Given the description of an element on the screen output the (x, y) to click on. 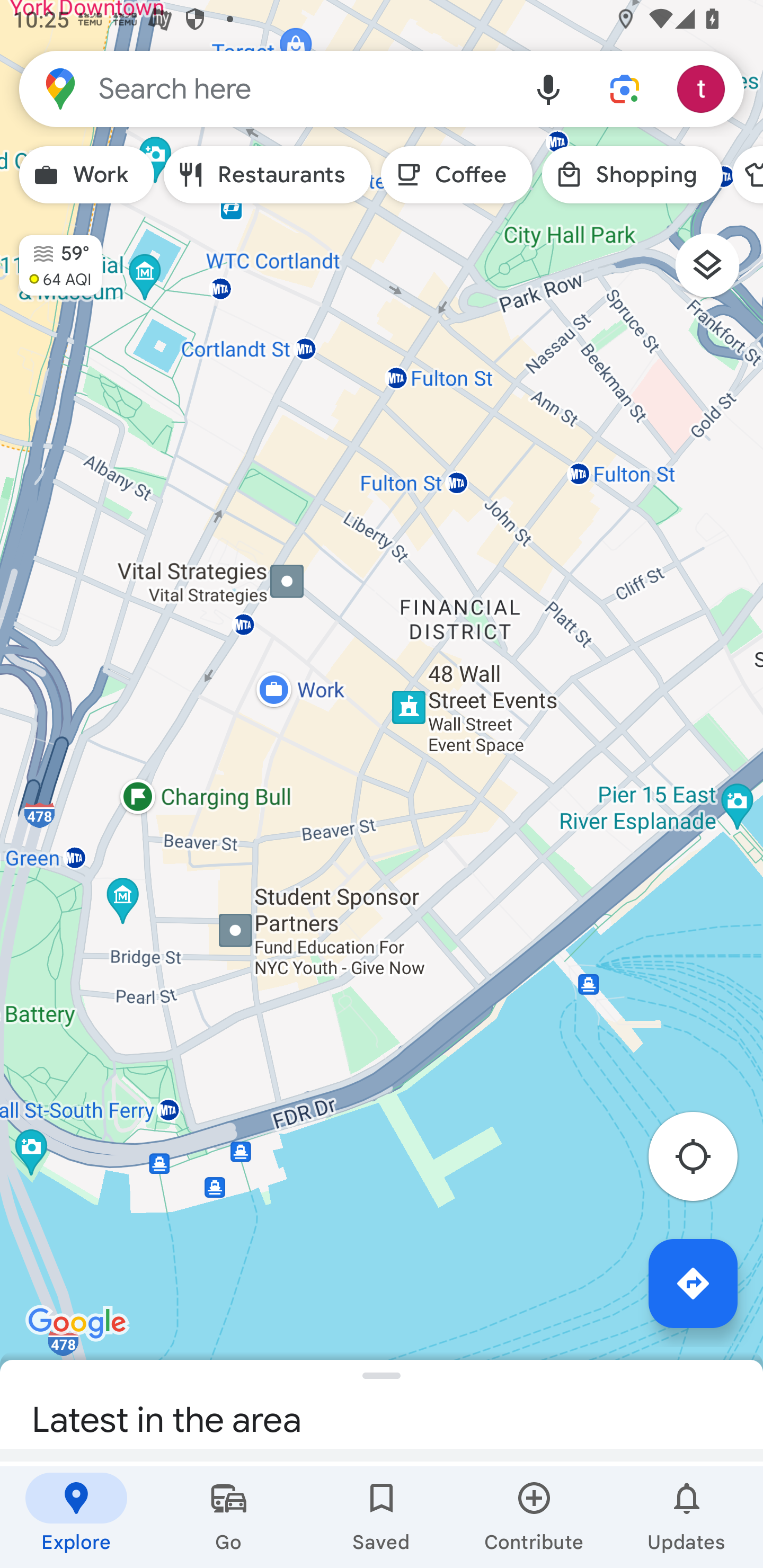
Search here (264, 88)
Voice search (548, 88)
Lens in Maps (624, 88)
Work (86, 174)
Restaurants Search for Restaurants (267, 174)
Coffee Search for Coffee (456, 174)
Shopping Search for Shopping (631, 174)
Fog, 59°, Moderate, 64 AQI 59° 64 AQI (50, 257)
Layers (716, 271)
Re-center map to your location (702, 1161)
Directions (692, 1283)
Go (228, 1517)
Saved (381, 1517)
Contribute (533, 1517)
Updates (686, 1517)
